Given the description of an element on the screen output the (x, y) to click on. 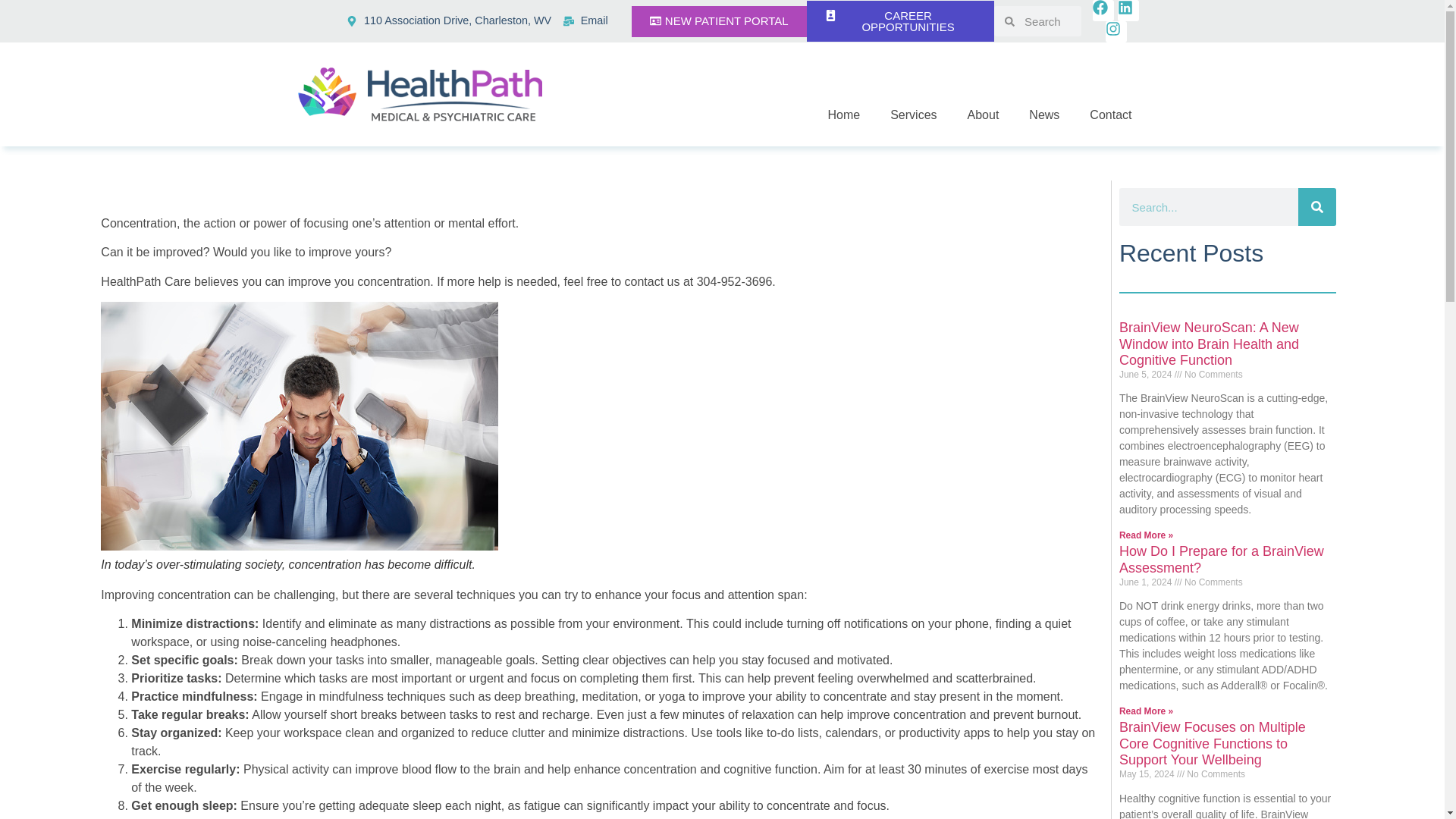
CAREER OPPORTUNITIES (900, 20)
About (983, 115)
Contact (1110, 115)
Home (843, 115)
110 Association Drive, Charleston, WV (448, 21)
News (1043, 115)
NEW PATIENT PORTAL (718, 20)
Email (585, 21)
Services (913, 115)
